Given the description of an element on the screen output the (x, y) to click on. 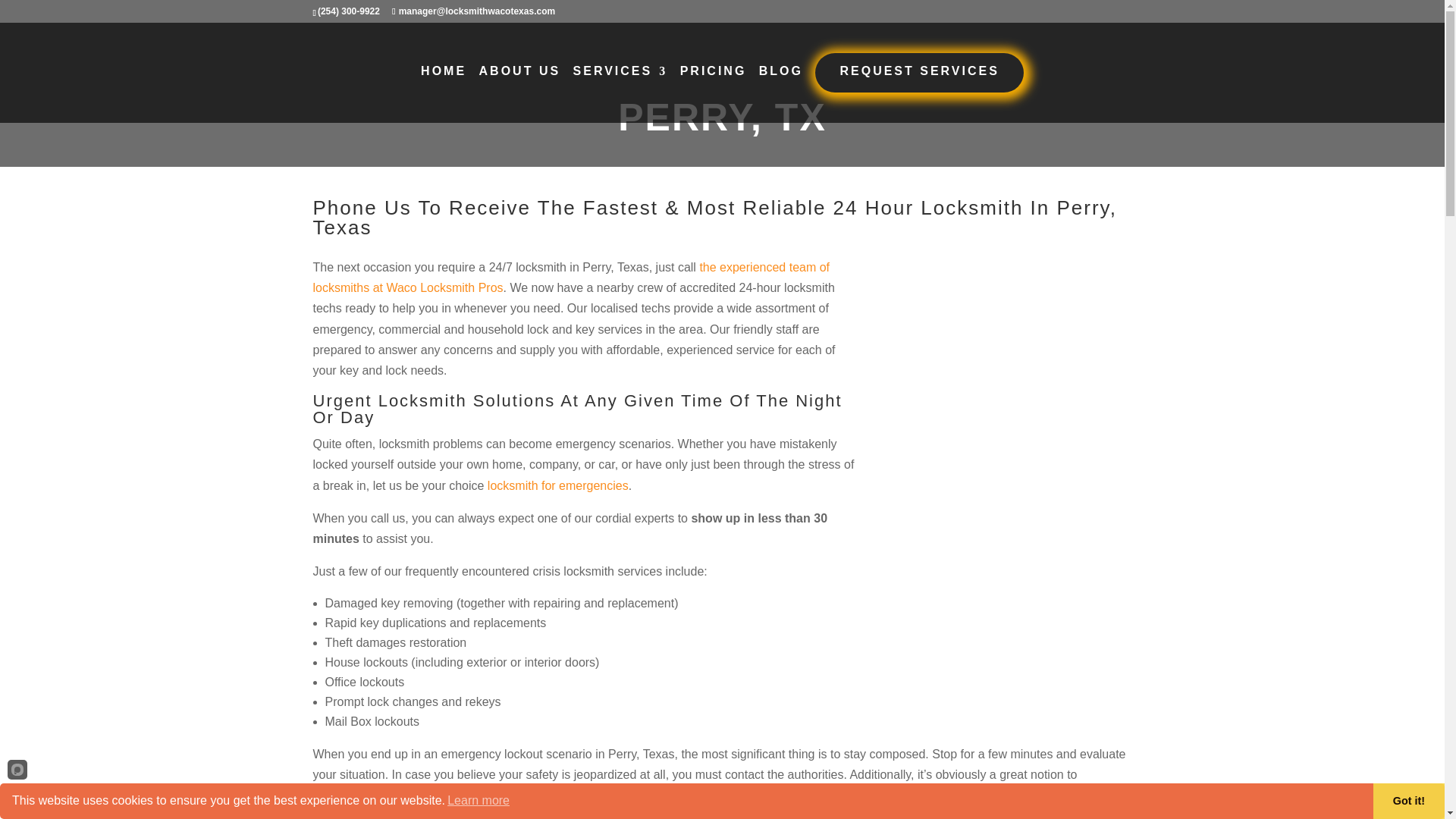
ABOUT US (519, 78)
HOME (442, 78)
SERVICES (620, 78)
